Given the description of an element on the screen output the (x, y) to click on. 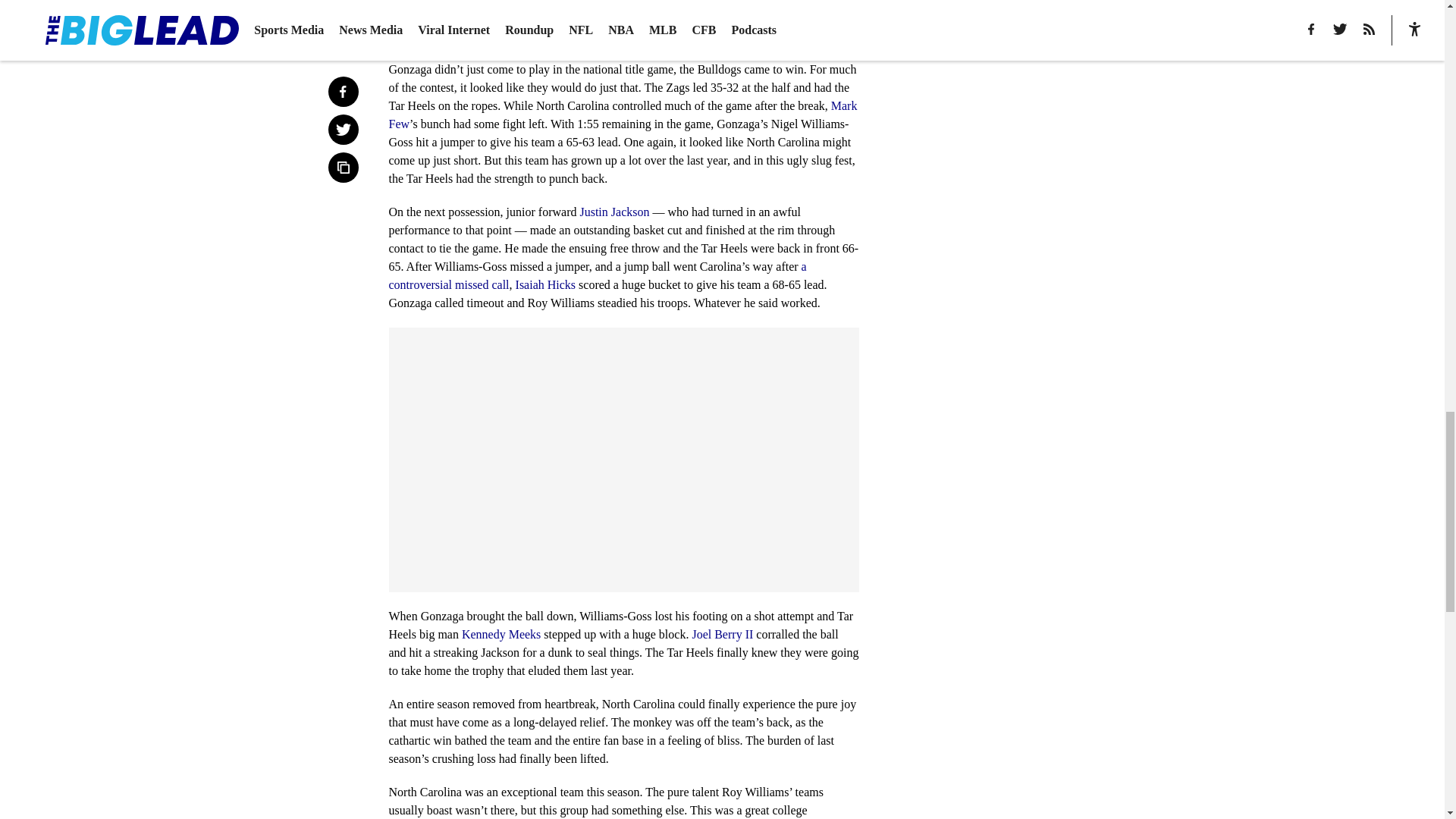
Isaiah Hicks (545, 284)
Mark Few (622, 114)
Justin Jackson (614, 211)
Joel Berry II (721, 634)
a controversial missed call (597, 275)
Kennedy Meeks (500, 634)
